Given the description of an element on the screen output the (x, y) to click on. 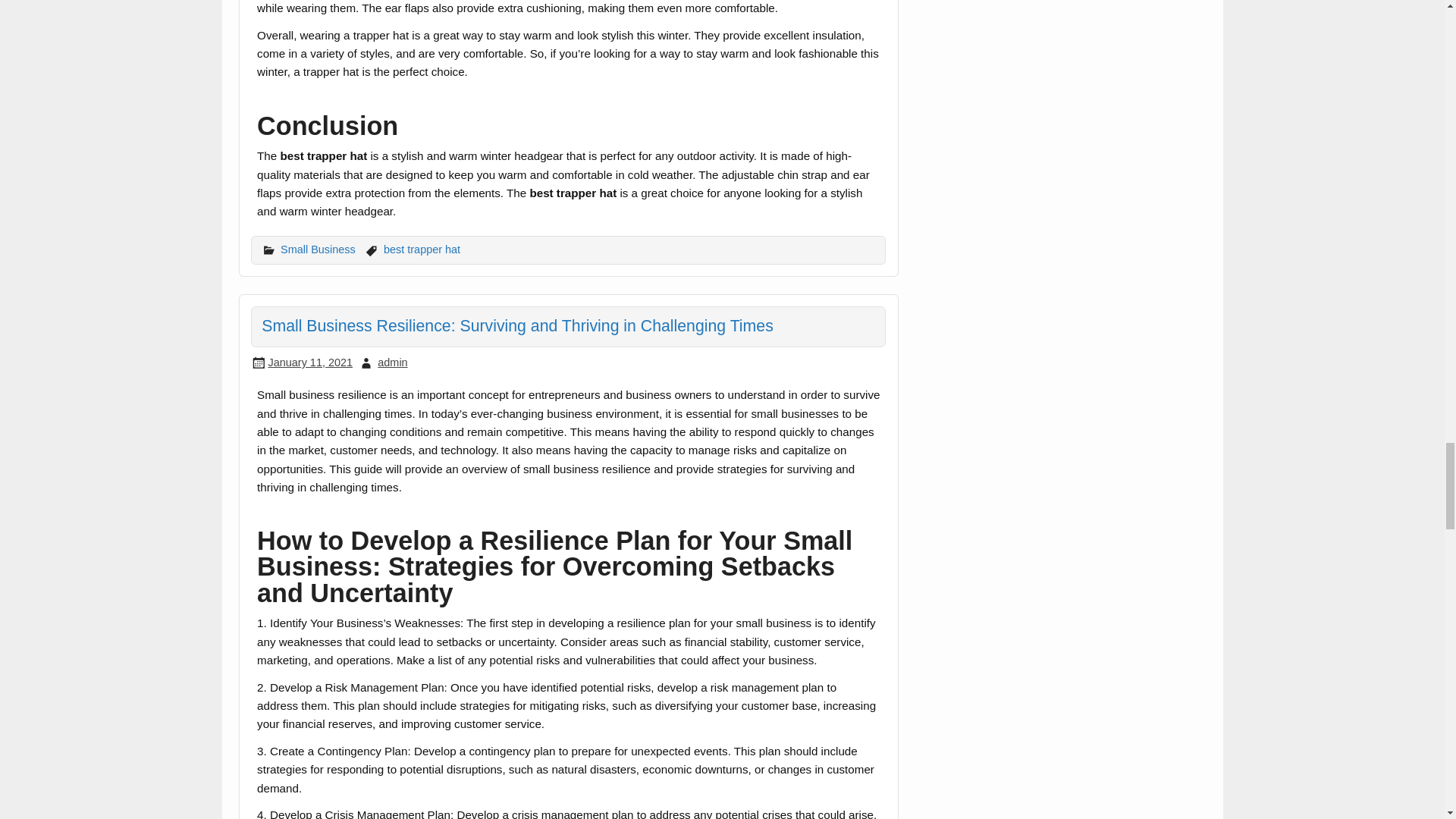
admin (392, 362)
Small Business (318, 249)
best trapper hat (422, 249)
8:14 pm (309, 362)
January 11, 2021 (309, 362)
View all posts by admin (392, 362)
